Given the description of an element on the screen output the (x, y) to click on. 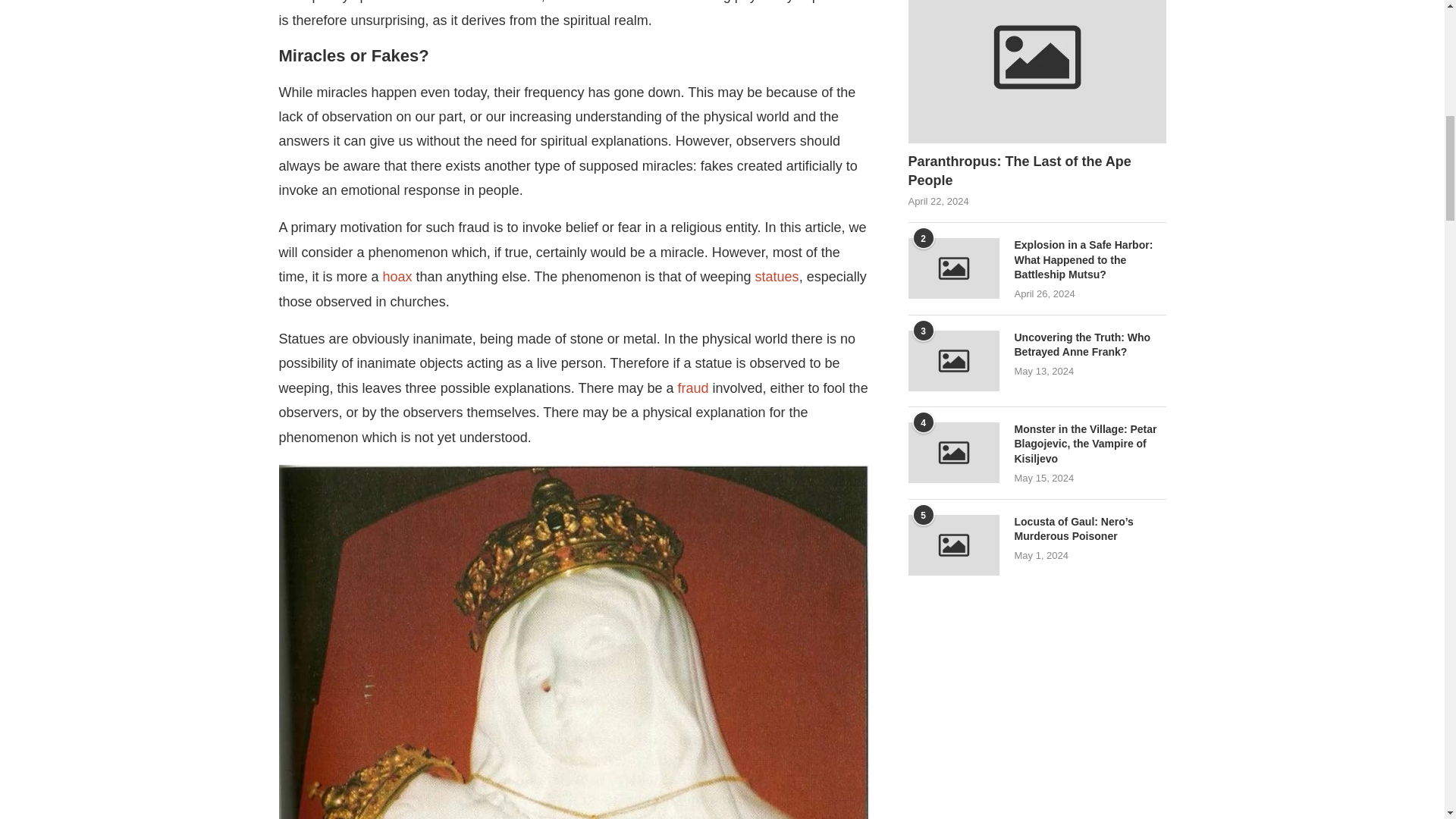
Paranthropus: The Last of the Ape People (1037, 71)
Paranthropus: The Last of the Ape People (1037, 171)
